Given the description of an element on the screen output the (x, y) to click on. 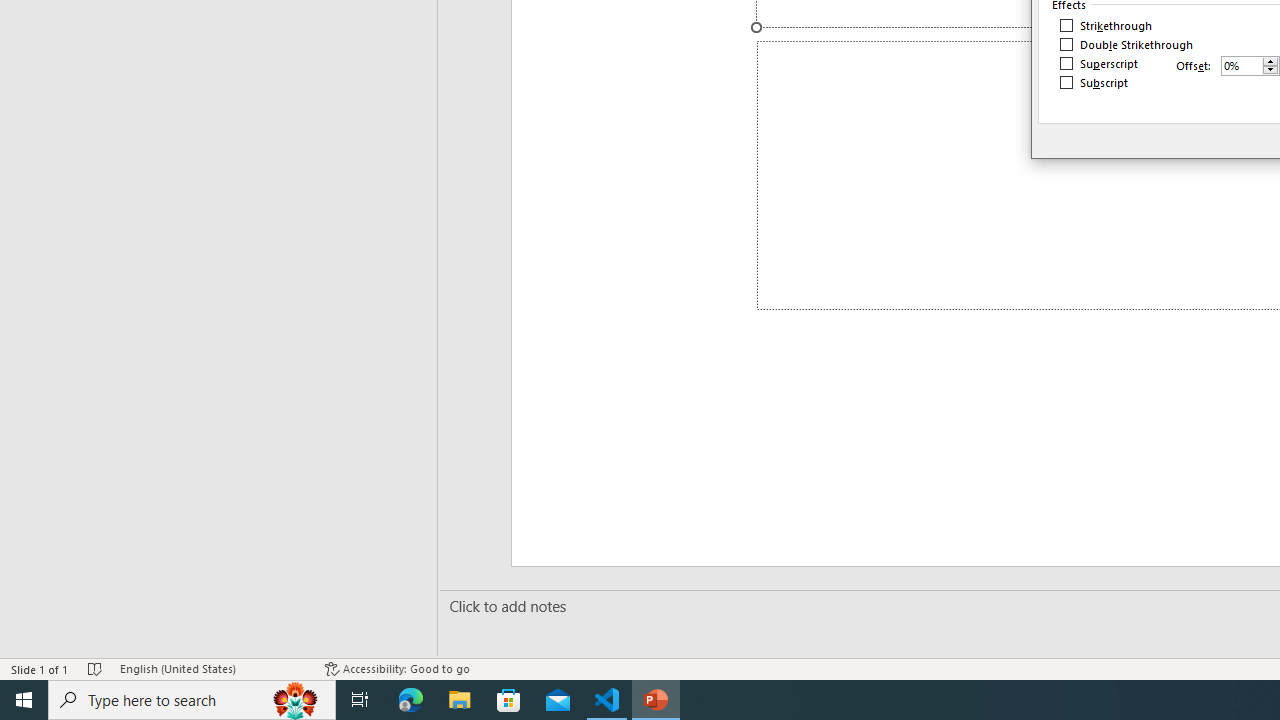
Offset (1242, 65)
Superscript (1099, 64)
Offset (1250, 66)
